Given the description of an element on the screen output the (x, y) to click on. 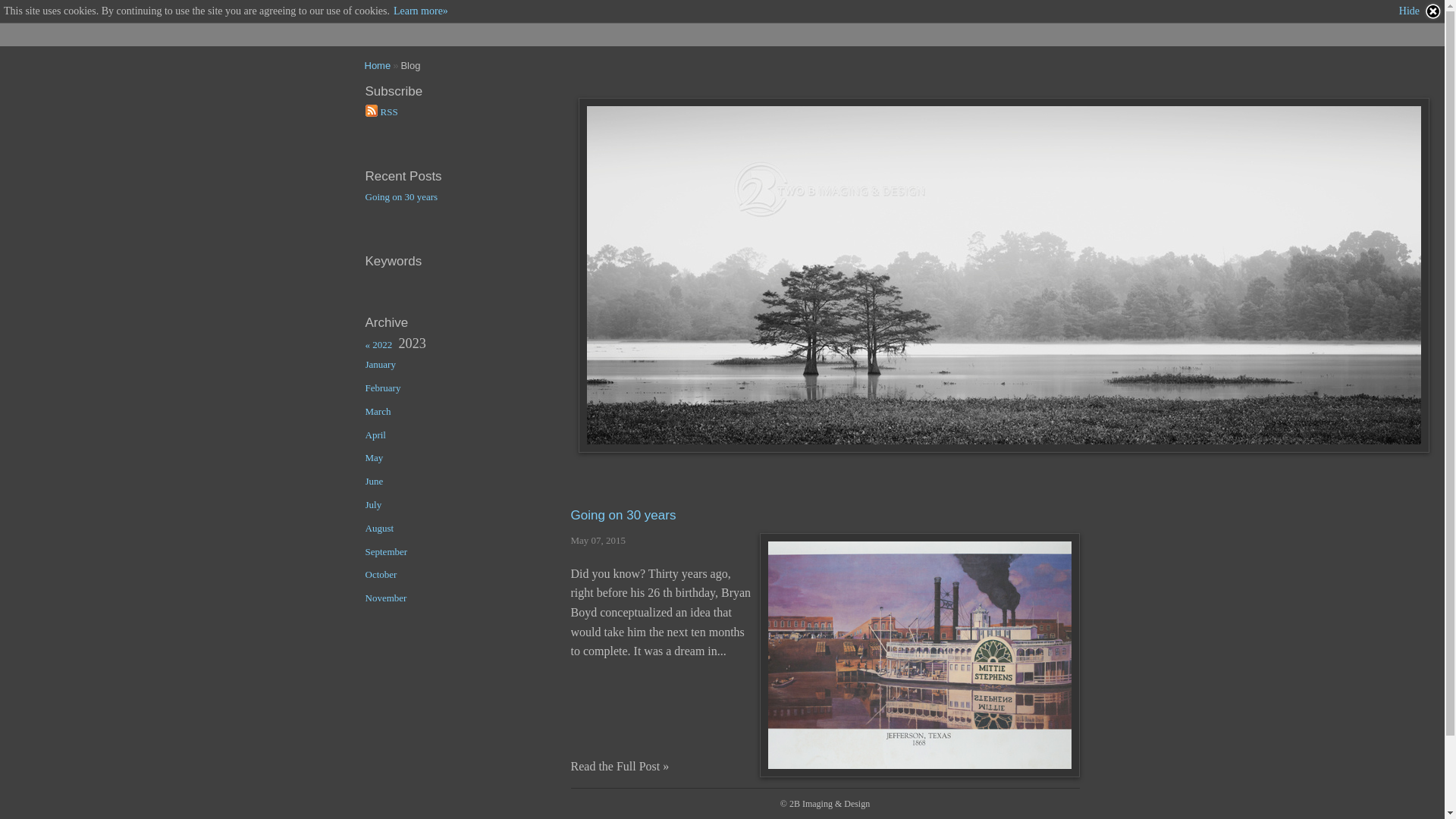
Home Element type: text (377, 65)
Hide Element type: text (1420, 11)
Going on 30 years Element type: text (452, 201)
RSS Element type: text (452, 116)
Going on 30 years Element type: text (622, 515)
